Given the description of an element on the screen output the (x, y) to click on. 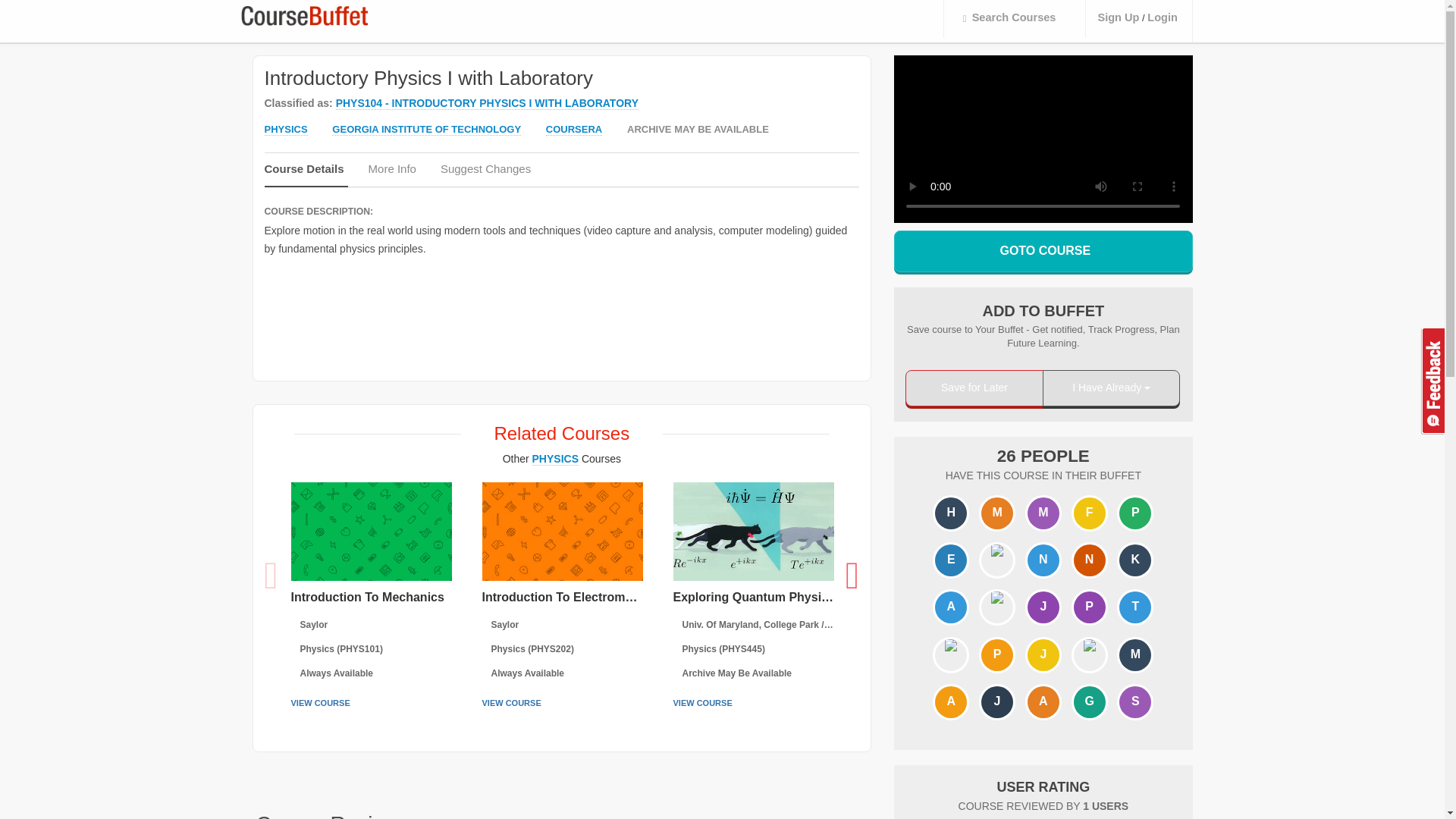
A (950, 702)
S (1135, 702)
G (1089, 702)
GEORGIA INSTITUTE OF TECHNOLOGY (426, 129)
K (1135, 560)
E (950, 560)
GOTO COURSE (1042, 250)
M (997, 513)
N (1089, 560)
PHYSICS (285, 129)
T (1135, 607)
J (1043, 655)
Save for Later (974, 388)
N (1043, 560)
P (1089, 607)
